Given the description of an element on the screen output the (x, y) to click on. 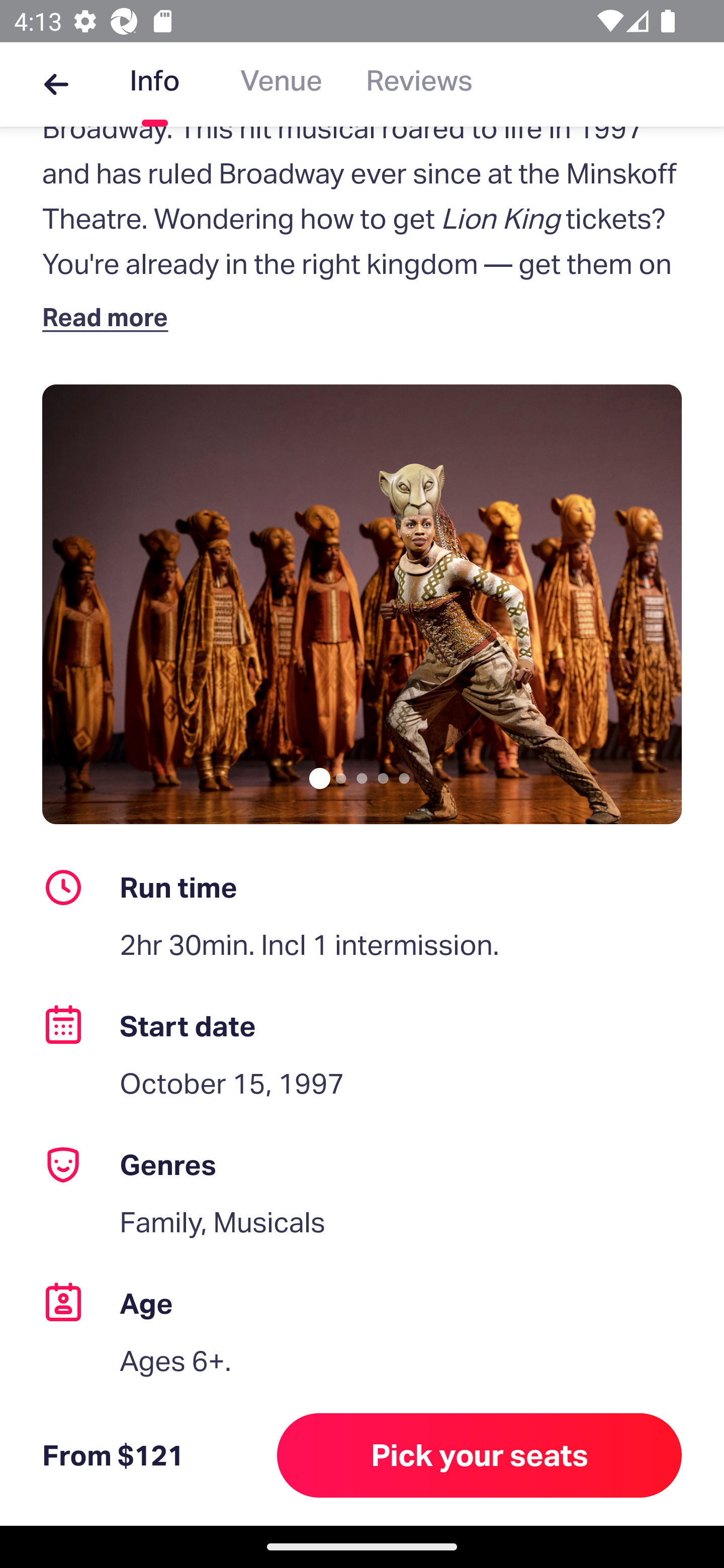
Venue (280, 84)
Reviews (419, 84)
Read more (109, 316)
Pick your seats (479, 1454)
